Given the description of an element on the screen output the (x, y) to click on. 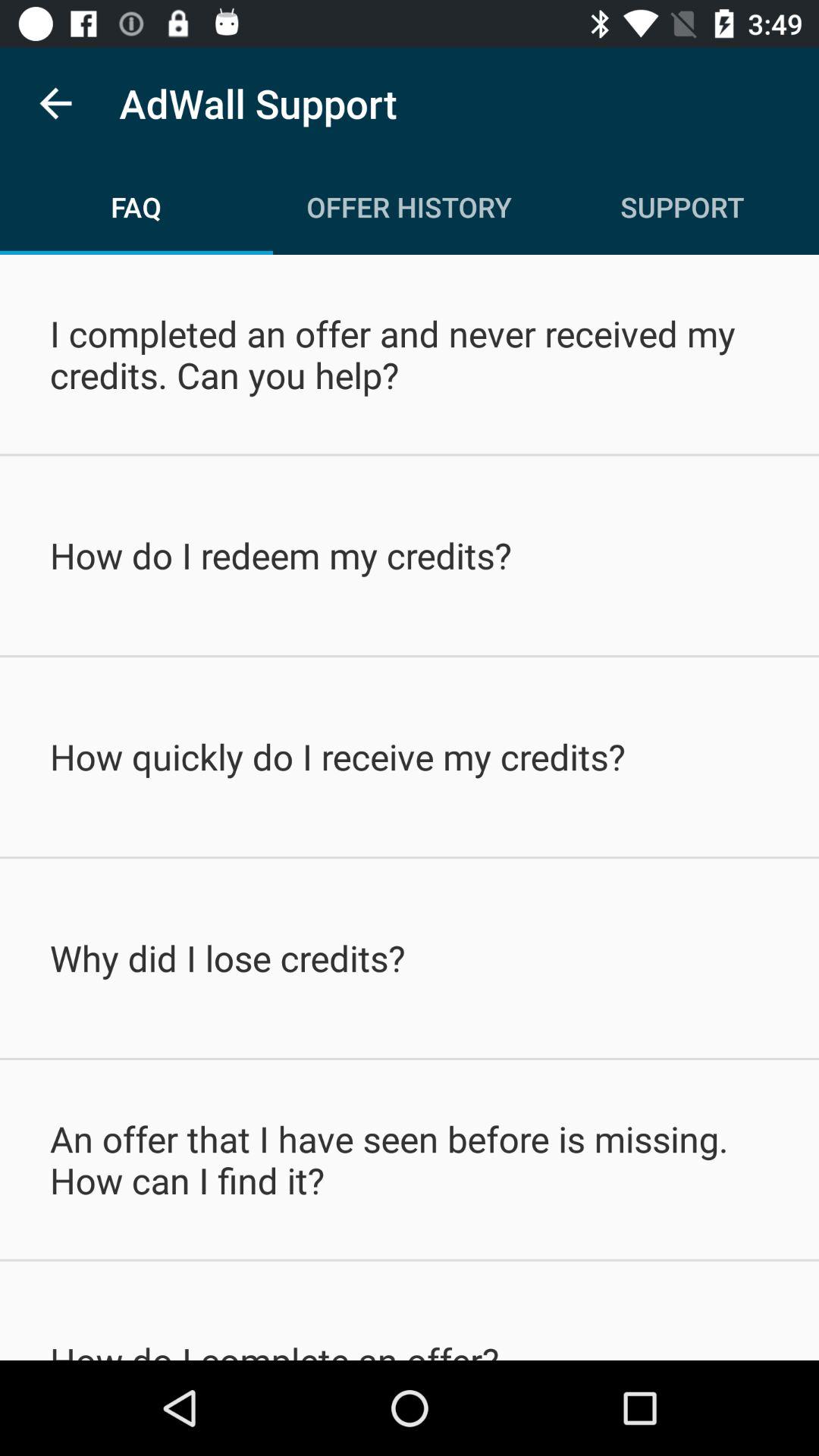
open the item next to the adwall support (55, 103)
